Given the description of an element on the screen output the (x, y) to click on. 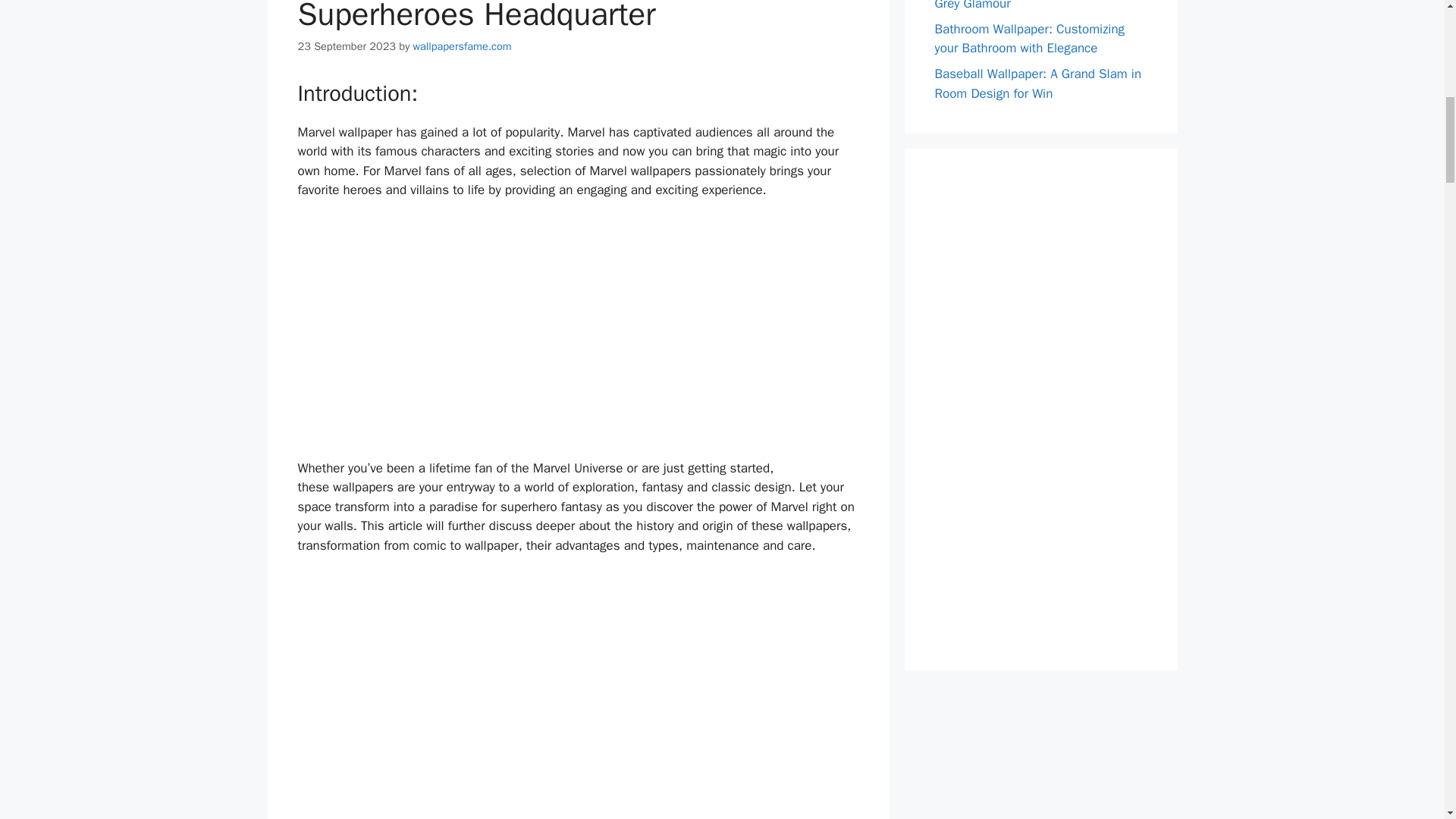
View all posts by wallpapersfame.com (462, 46)
Grey Wallpaper: The Sophistication of Grey Glamour (1039, 5)
Advertisement (581, 688)
Bathroom Wallpaper: Customizing your Bathroom with Elegance (1029, 38)
Advertisement (581, 332)
wallpapersfame.com (462, 46)
Advertisement (1047, 406)
Baseball Wallpaper: A Grand Slam in Room Design for Win (1037, 83)
